Given the description of an element on the screen output the (x, y) to click on. 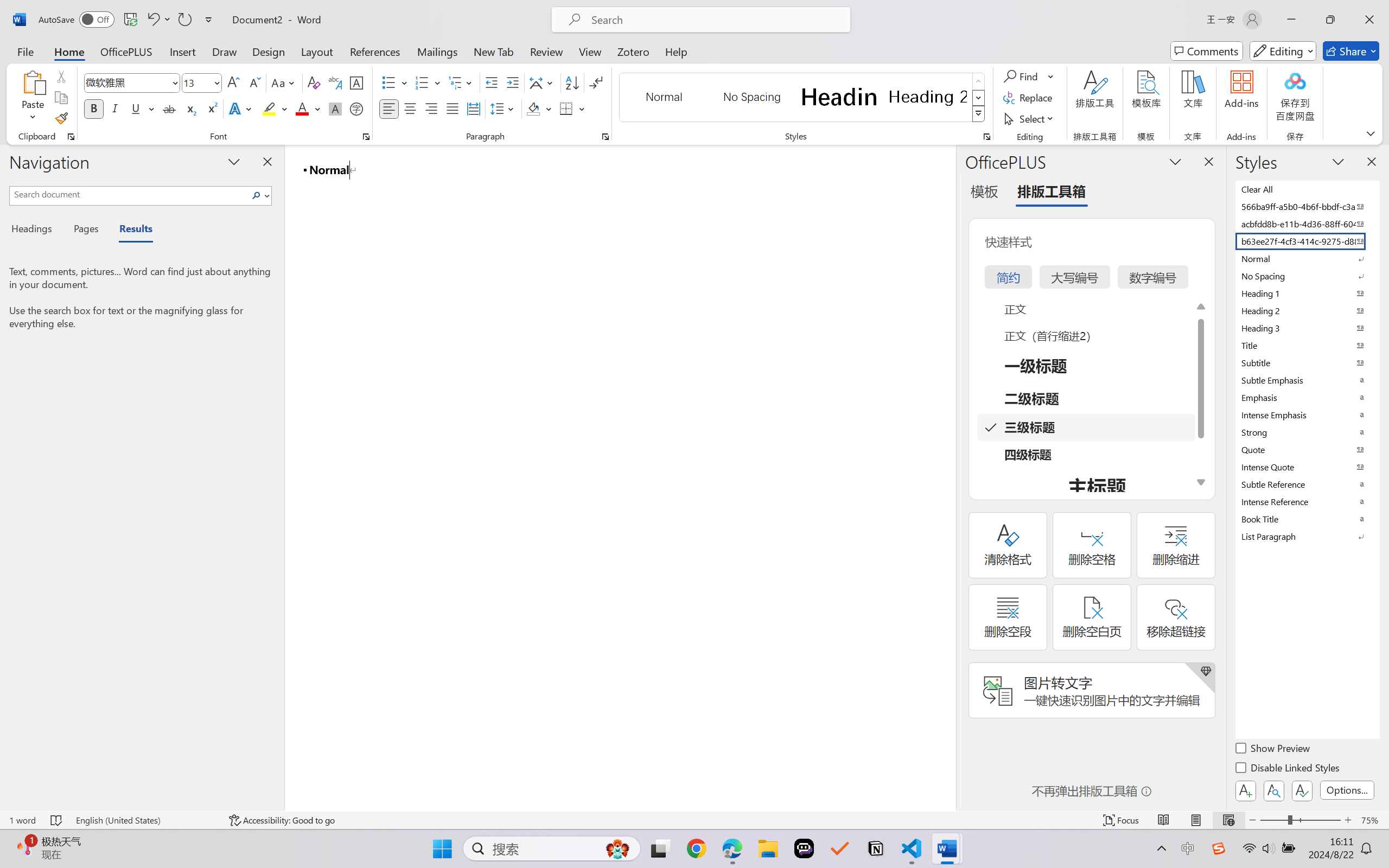
Clear All (1306, 188)
Italic (115, 108)
Styles... (986, 136)
Ribbon Display Options (1370, 132)
Language English (United States) (144, 819)
Select (1030, 118)
View (589, 51)
Shrink Font (253, 82)
Row up (978, 81)
